Given the description of an element on the screen output the (x, y) to click on. 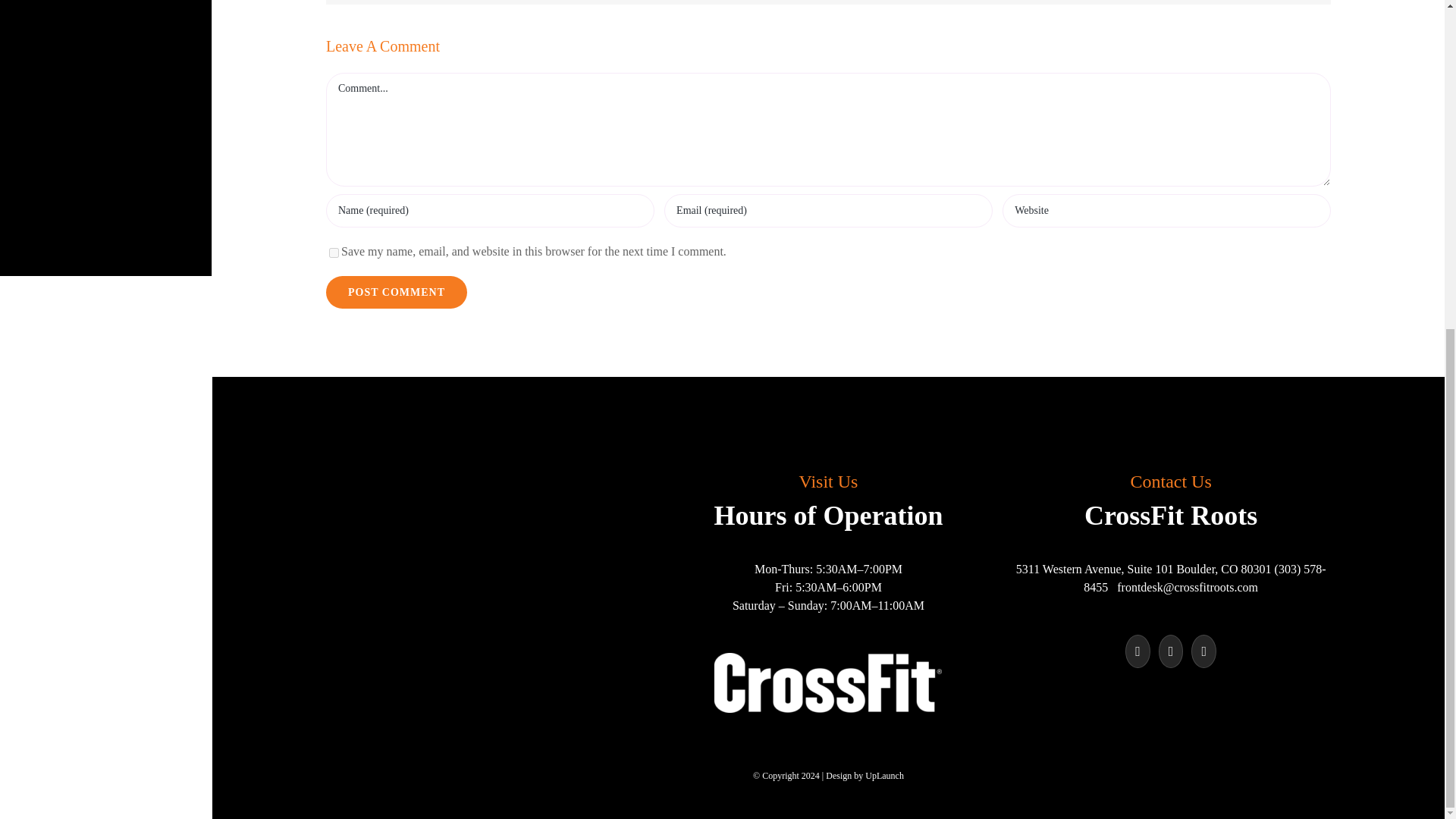
UpLaunch (884, 775)
yes (334, 252)
Post Comment (396, 292)
Post Comment (396, 292)
